Given the description of an element on the screen output the (x, y) to click on. 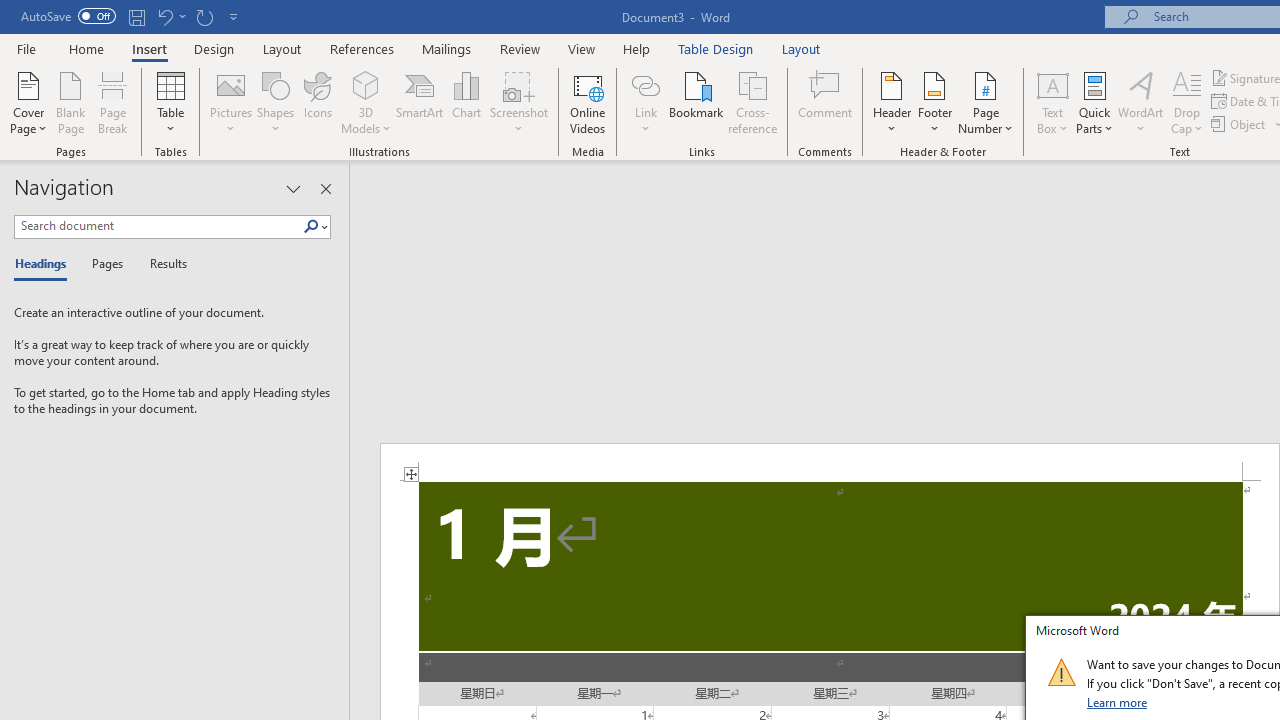
Link (645, 102)
Chart... (466, 102)
Table (170, 102)
Object... (1240, 124)
Learn more (1118, 702)
File Tab (26, 48)
Page Number (986, 102)
Icons (317, 102)
Repeat Doc Close (204, 15)
Results (161, 264)
Cover Page (28, 102)
Layout (801, 48)
Page Break (113, 102)
Mailings (447, 48)
